Given the description of an element on the screen output the (x, y) to click on. 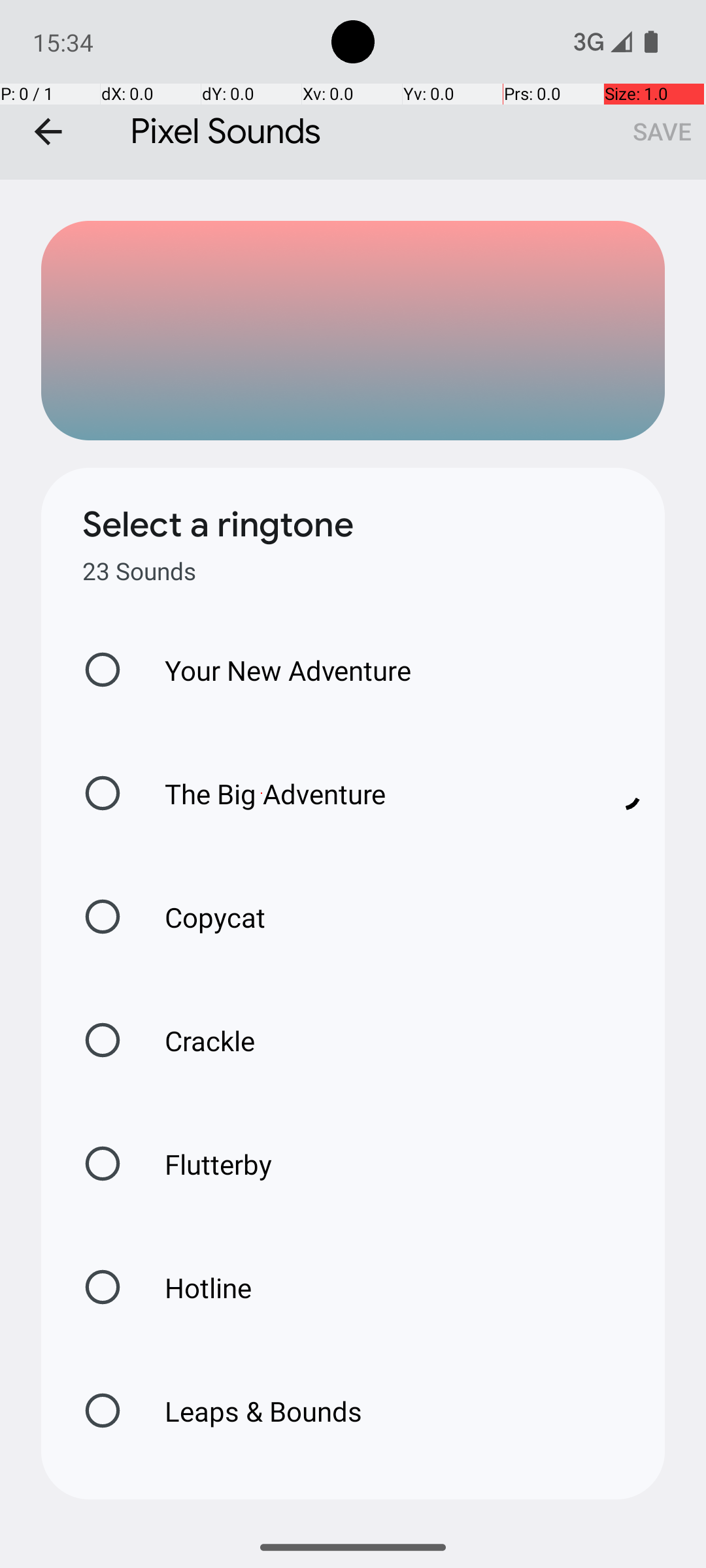
Your New Adventure Element type: android.widget.TextView (274, 669)
The Big Adventure Element type: android.widget.TextView (359, 793)
Copycat Element type: android.widget.TextView (201, 916)
Crackle Element type: android.widget.TextView (196, 1040)
Flutterby Element type: android.widget.TextView (204, 1163)
Hotline Element type: android.widget.TextView (194, 1287)
Leaps & Bounds Element type: android.widget.TextView (249, 1410)
